Given the description of an element on the screen output the (x, y) to click on. 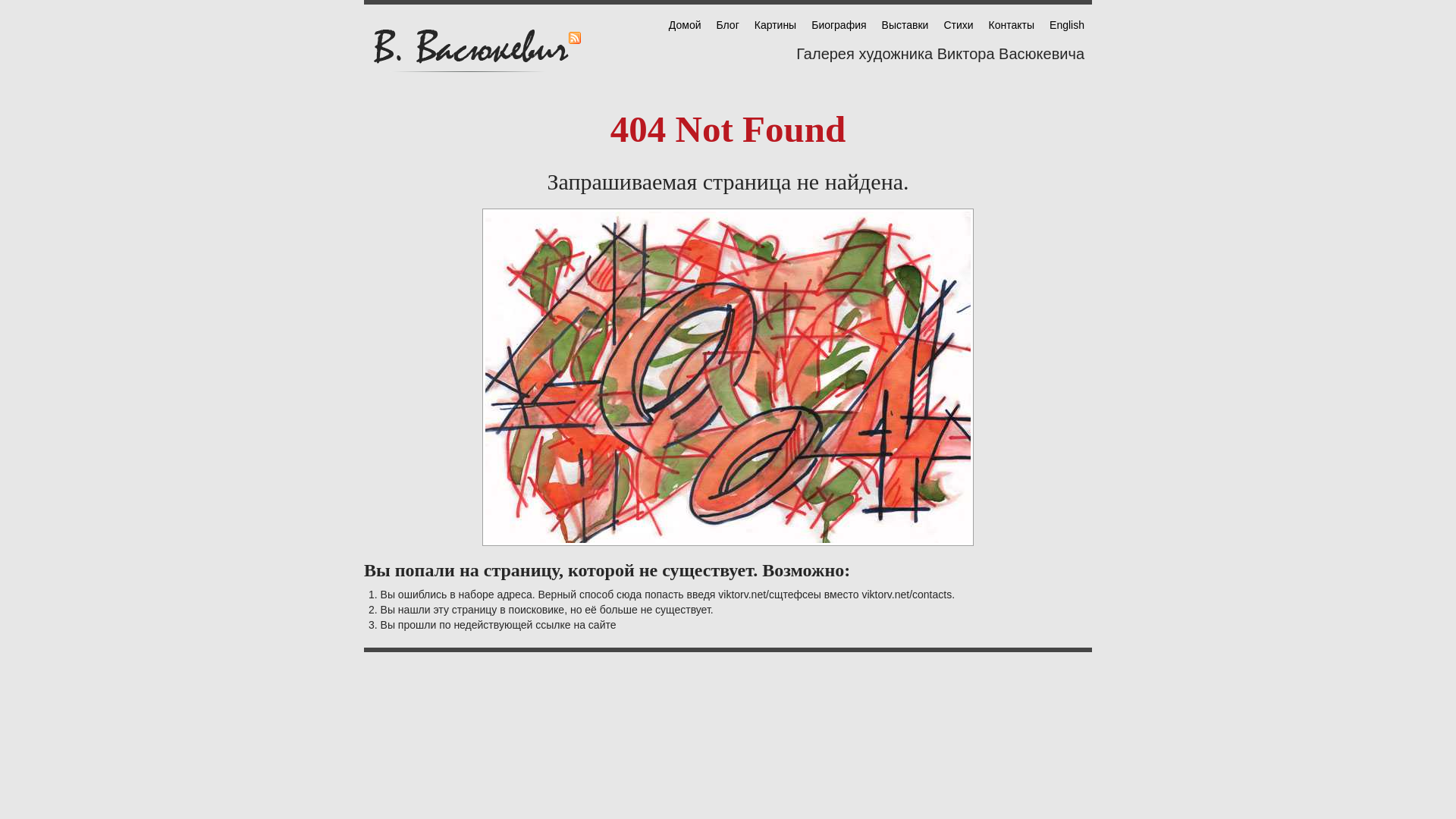
error 404 Element type: hover (727, 377)
RSS Element type: text (574, 37)
English Element type: text (1066, 24)
